Given the description of an element on the screen output the (x, y) to click on. 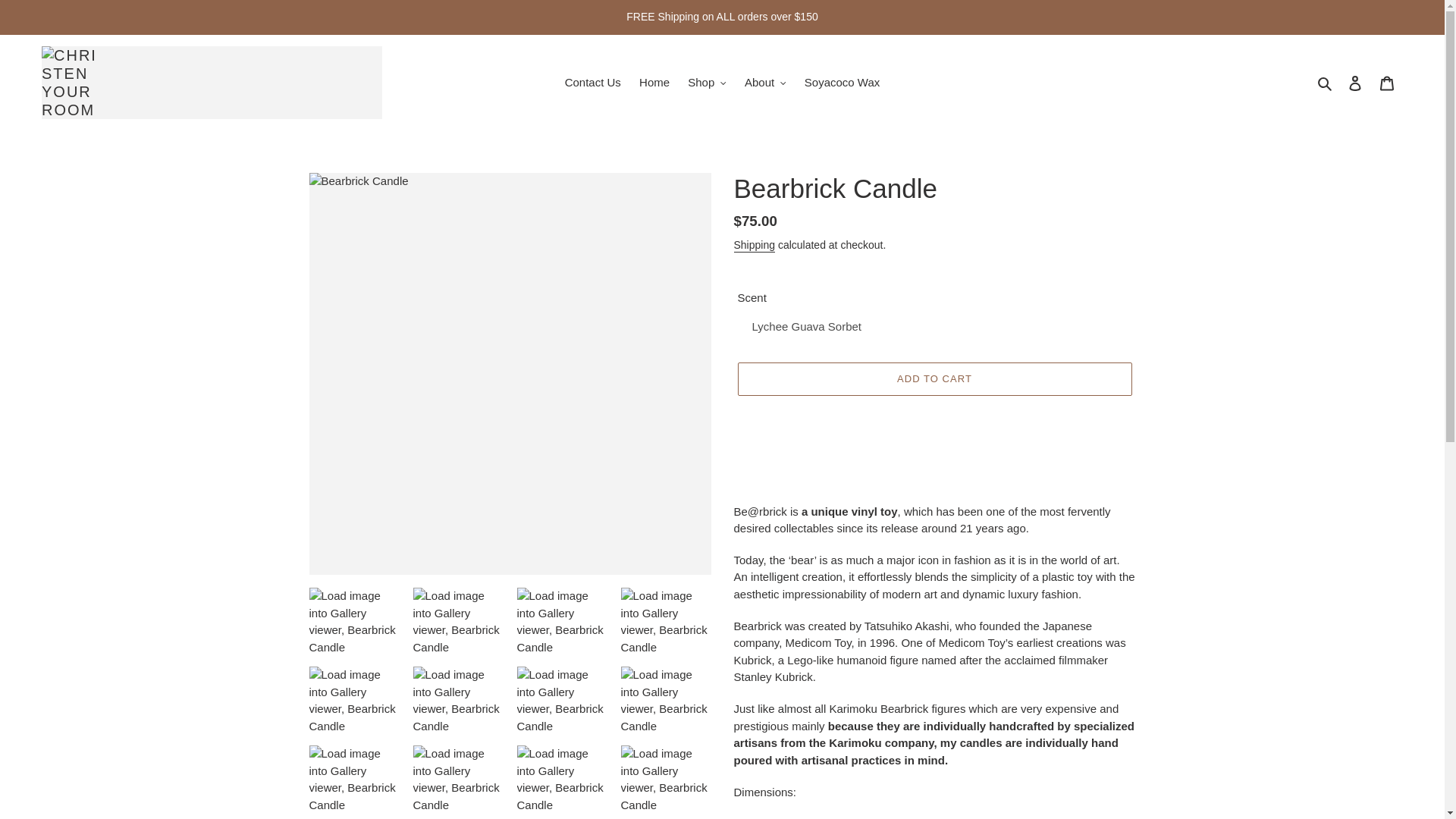
Home (654, 83)
Log in (1355, 82)
Shop (706, 83)
Soyacoco Wax (842, 83)
Contact Us (592, 83)
Cart (1387, 82)
About (764, 83)
Search (1326, 82)
